Given the description of an element on the screen output the (x, y) to click on. 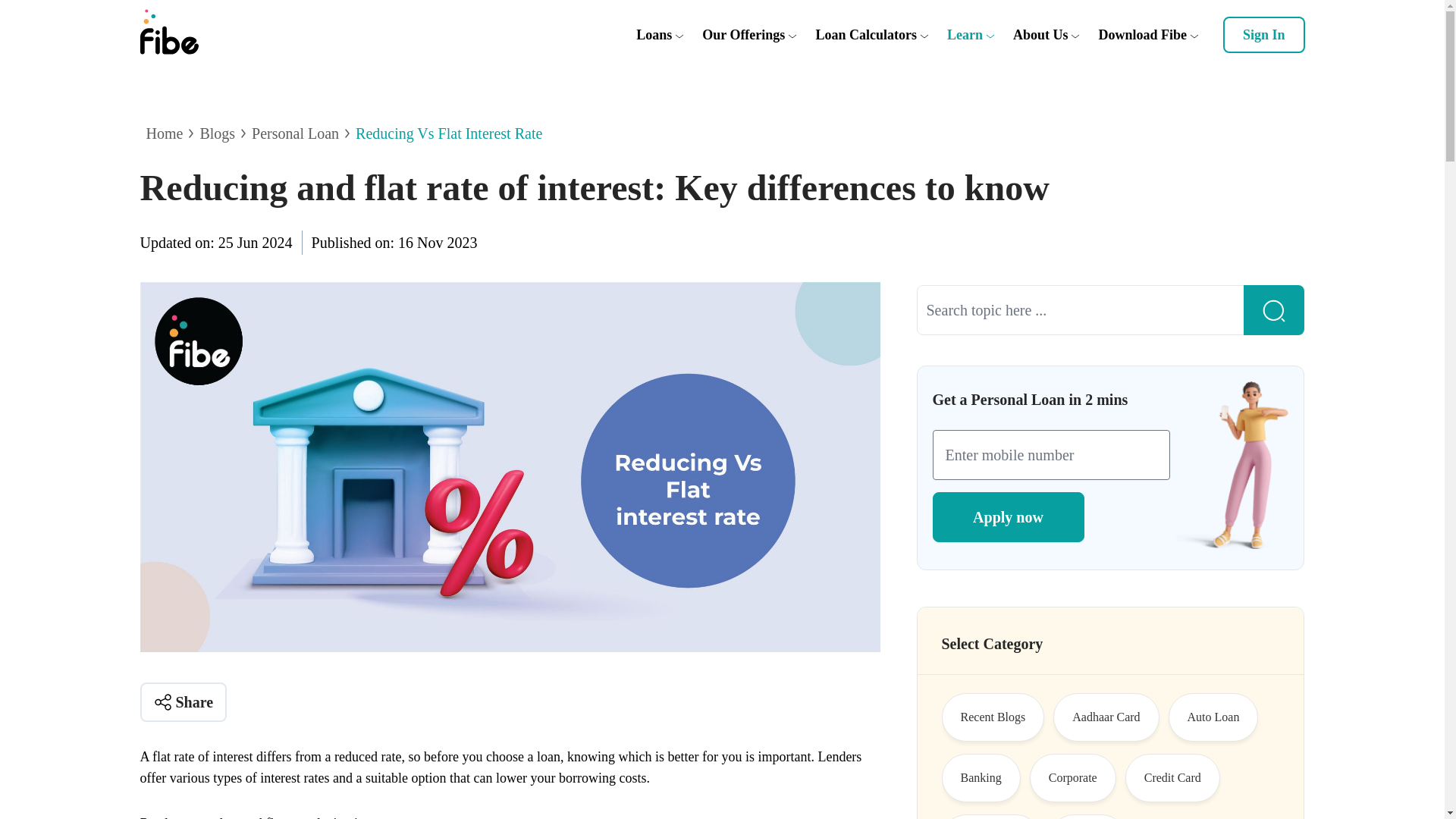
Personal Loan (295, 133)
Blogs (217, 133)
Home (164, 133)
Download Fibe (1141, 34)
Our Offerings (742, 34)
Loan Calculators (866, 34)
Sign In (1263, 34)
About Us (1040, 34)
